Given the description of an element on the screen output the (x, y) to click on. 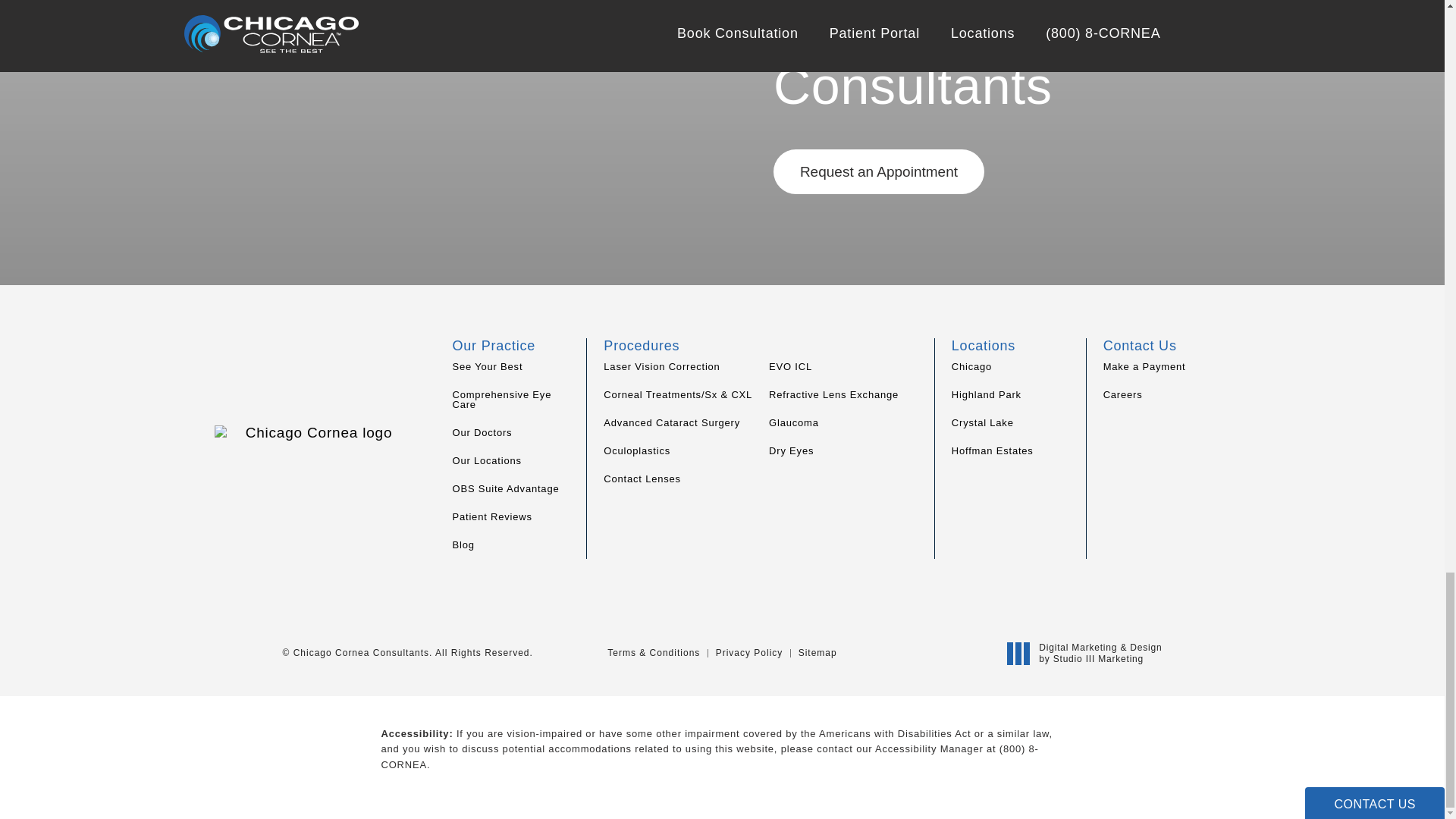
Chicago Cornea Consultants on Linkedin (1175, 421)
Chicago Cornea Consultants on Twitter (1153, 421)
Chicago Cornea Consultants on Instagram (1110, 421)
Chicago Cornea Consultants on Facebook (1131, 421)
